Given the description of an element on the screen output the (x, y) to click on. 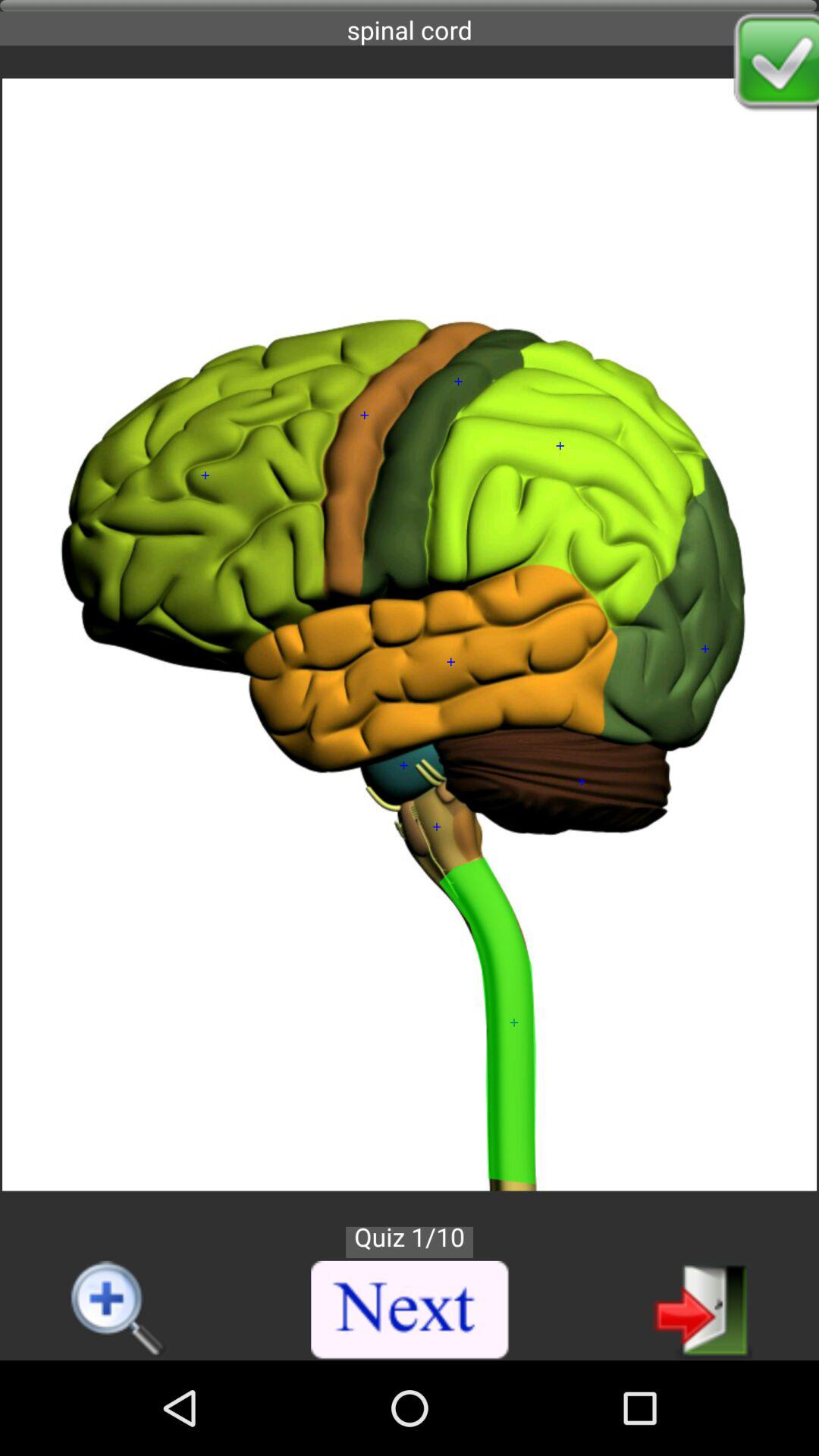
click on next (410, 1310)
